Given the description of an element on the screen output the (x, y) to click on. 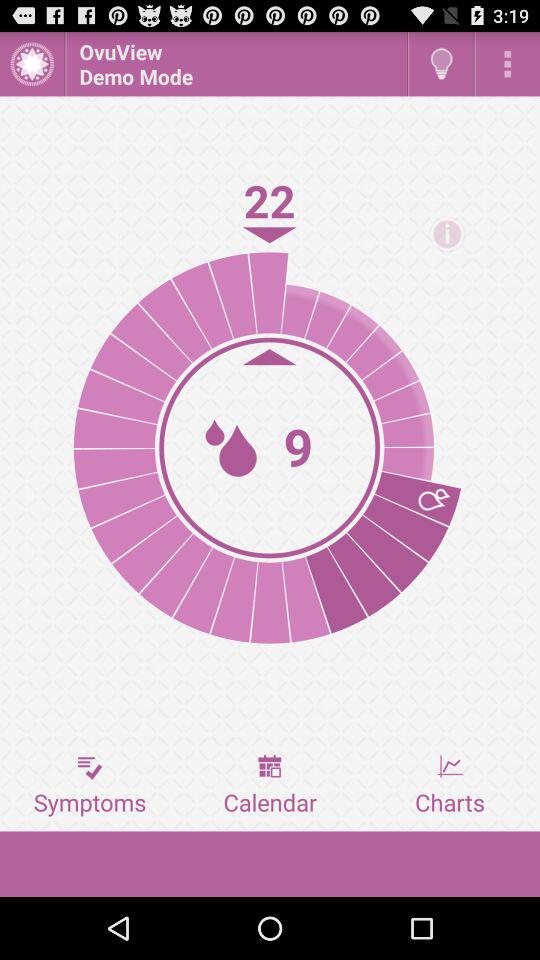
choose the charts icon (450, 785)
